Given the description of an element on the screen output the (x, y) to click on. 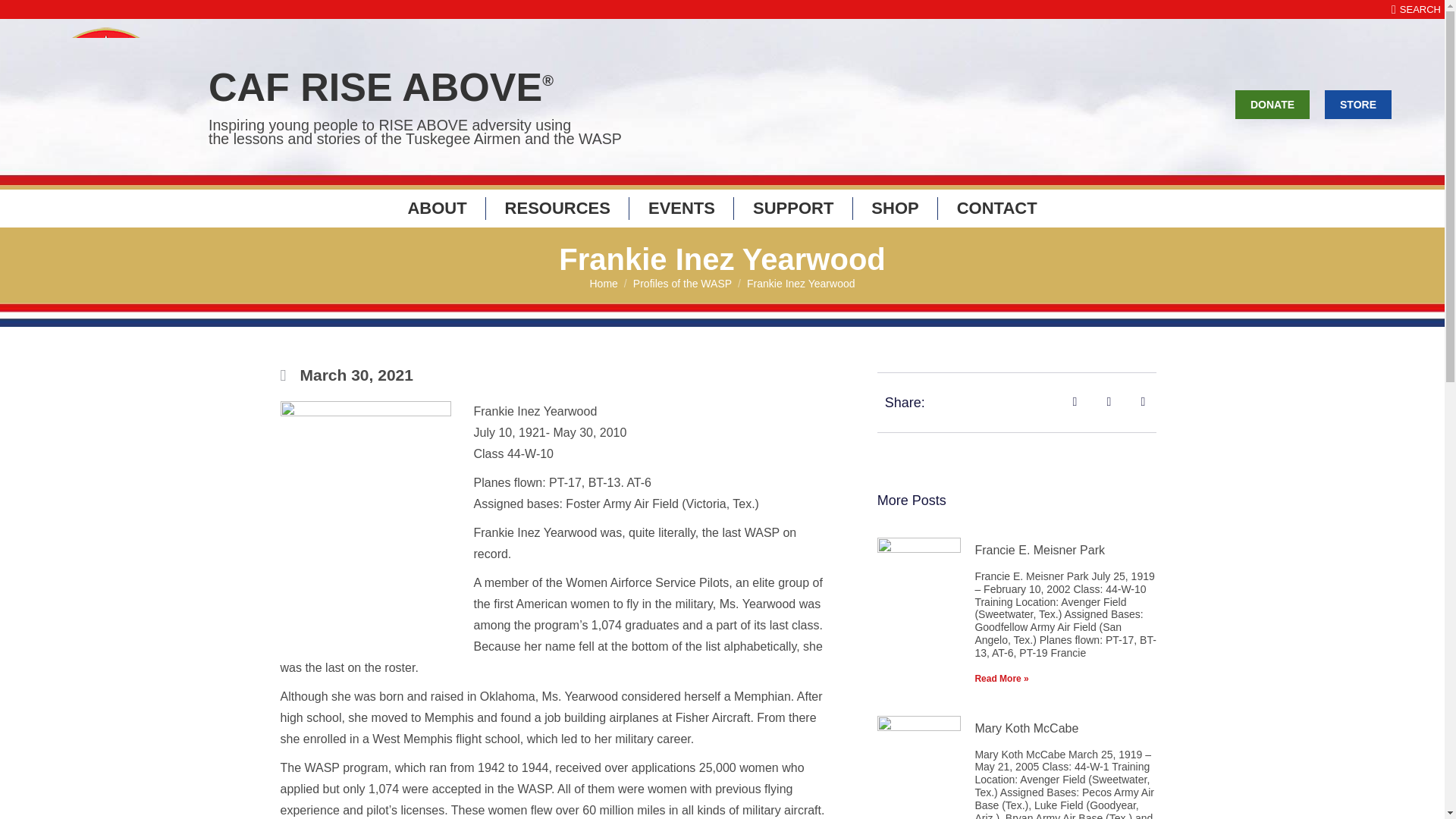
SEARCH (1416, 9)
STORE (1357, 103)
Go! (24, 16)
DONATE (1271, 103)
Home (603, 283)
Profiles of the WASP (682, 283)
RESOURCES (557, 208)
ABOUT (436, 208)
